Given the description of an element on the screen output the (x, y) to click on. 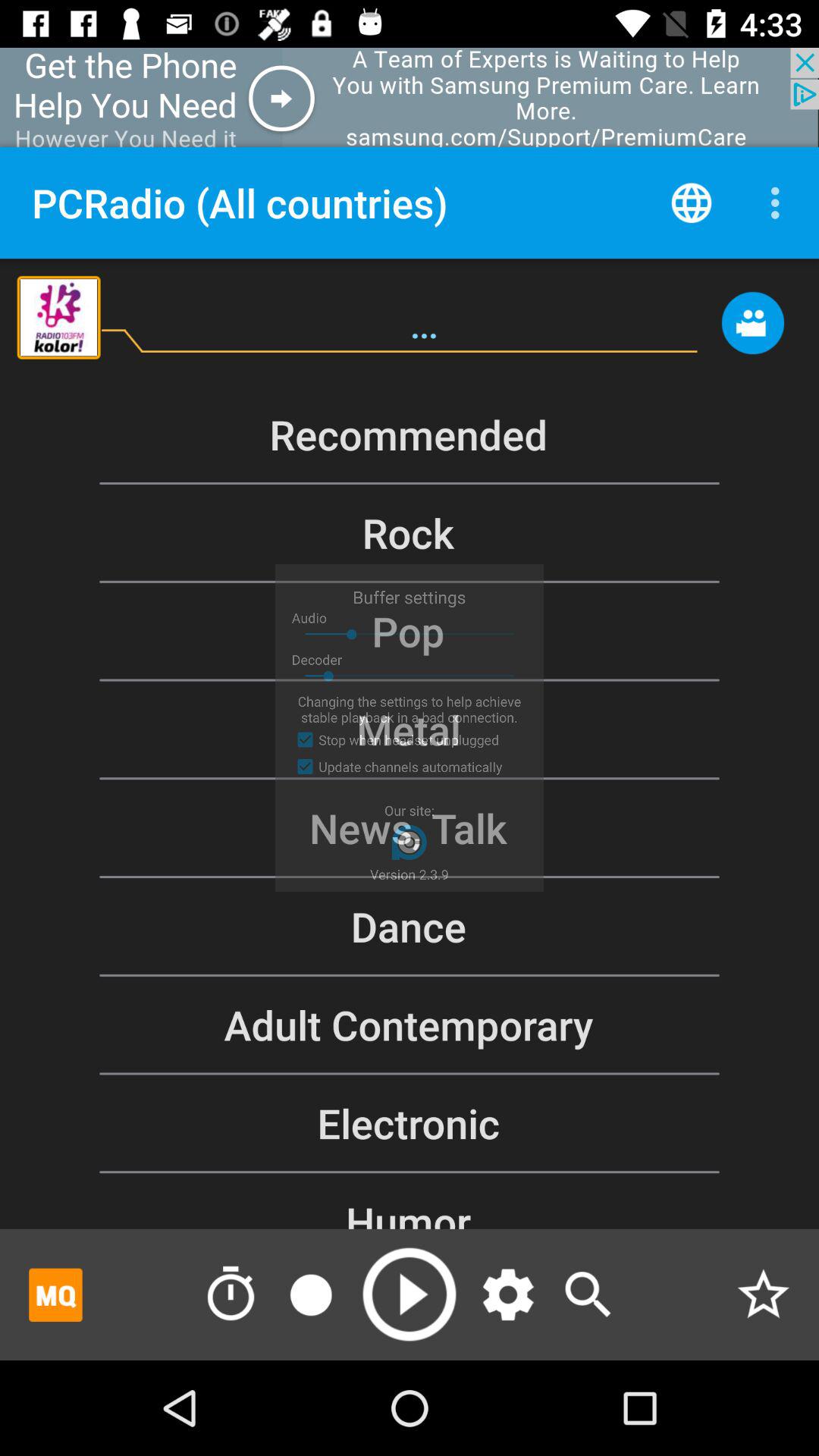
contact (752, 330)
